Given the description of an element on the screen output the (x, y) to click on. 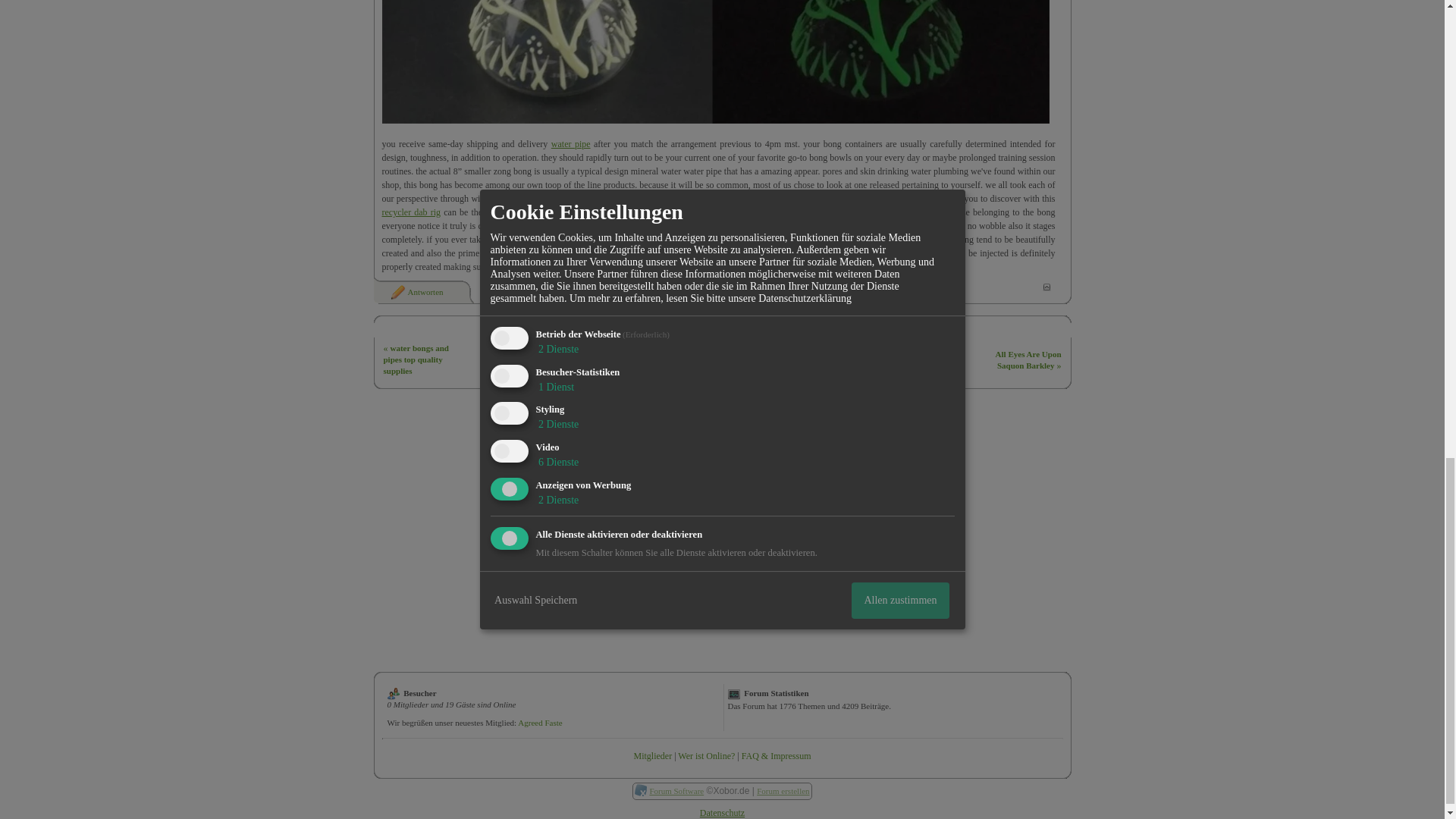
Antworten (416, 291)
Forum Software (676, 790)
Wer ist Online? (706, 756)
All Eyes Are Upon Saquon Barkley (1028, 359)
nach oben springen (1046, 287)
Forum erstellen (783, 790)
water pipe (571, 143)
water bongs and pipes top quality supplies (416, 359)
Mitglieder (652, 756)
Agreed Faste (540, 722)
